Given the description of an element on the screen output the (x, y) to click on. 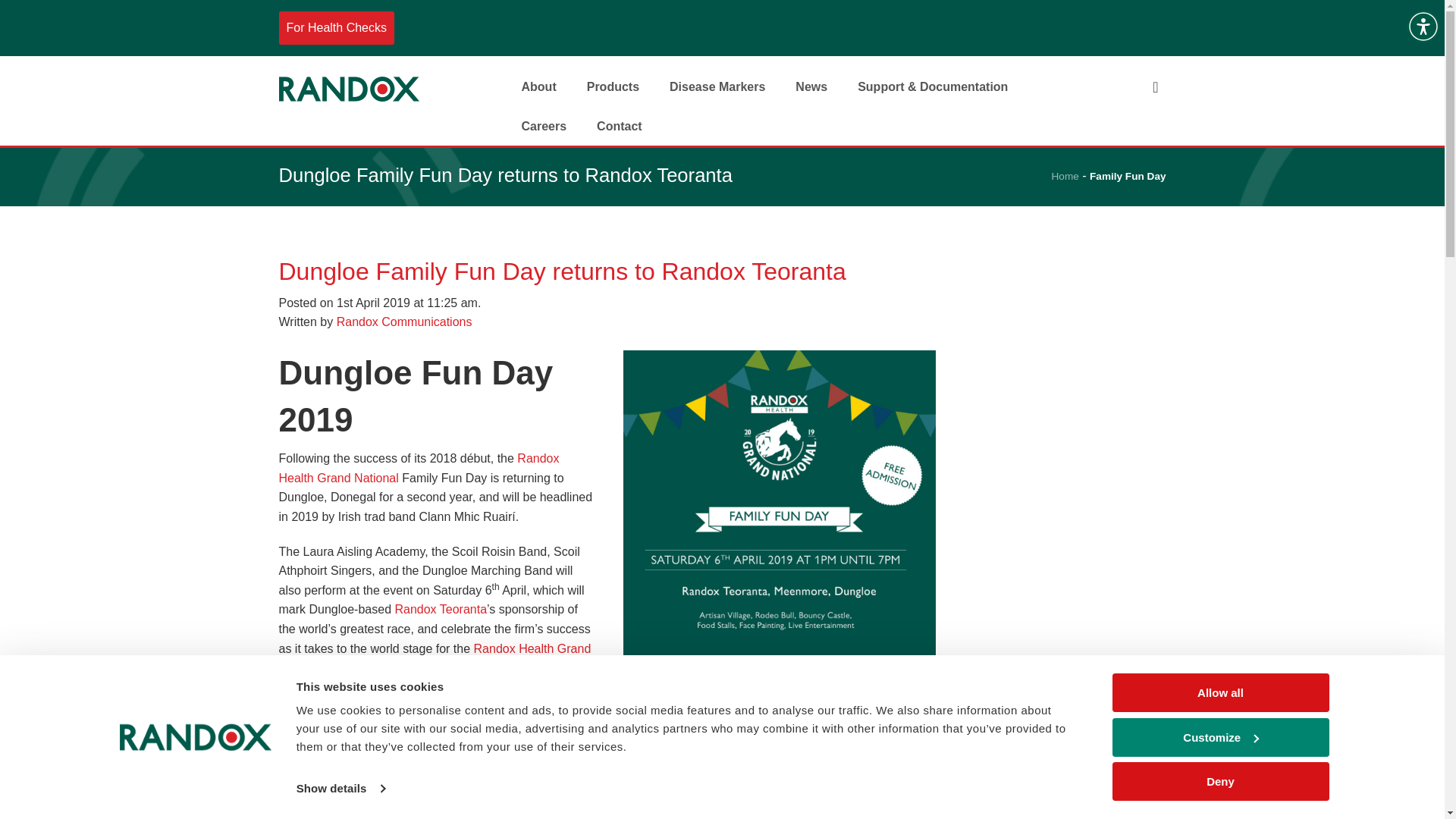
Accessibility Menu (1422, 26)
Show details (340, 788)
Randox Laboratories (349, 85)
